Given the description of an element on the screen output the (x, y) to click on. 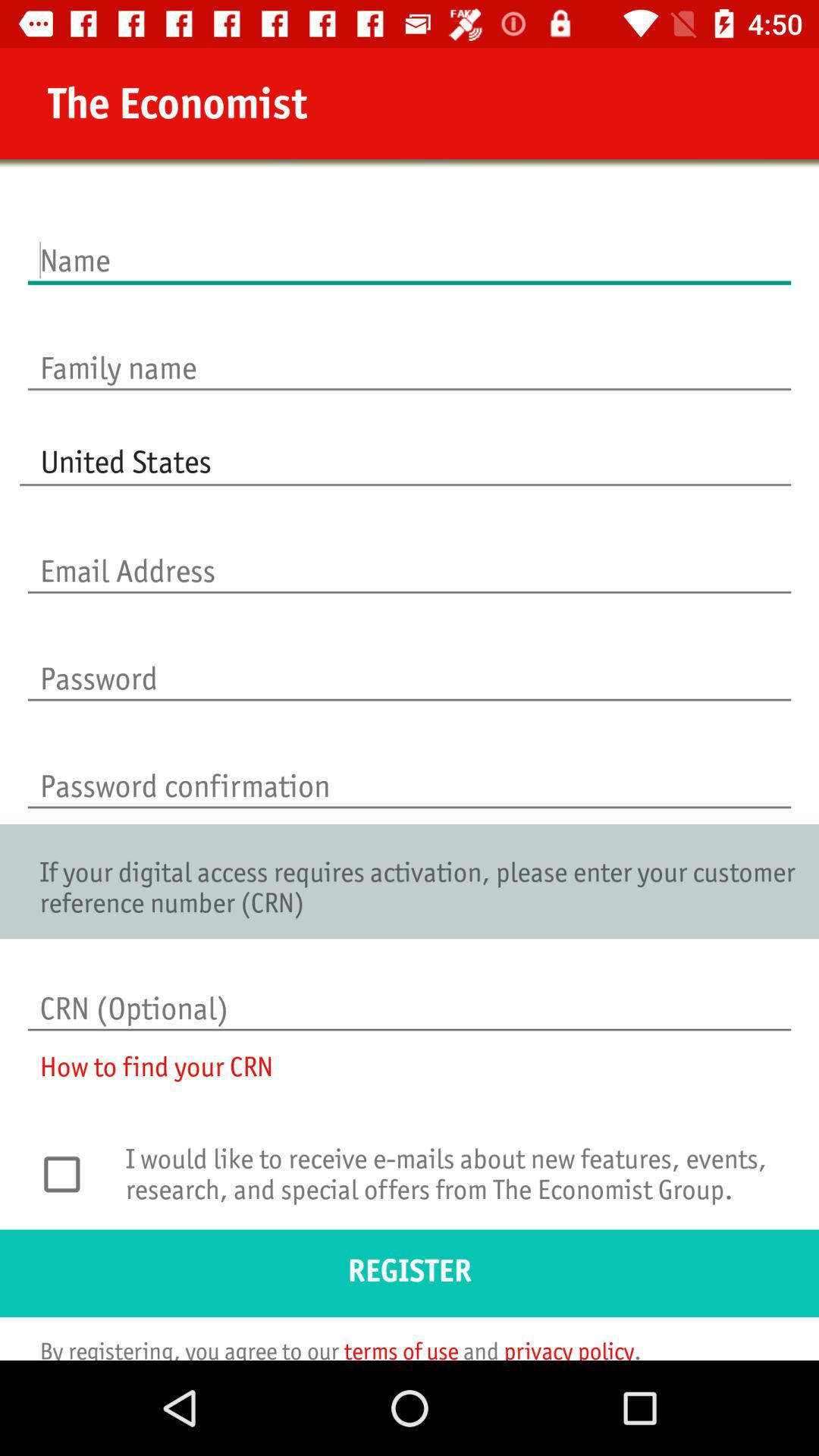
flip to the by registering you icon (330, 1348)
